Given the description of an element on the screen output the (x, y) to click on. 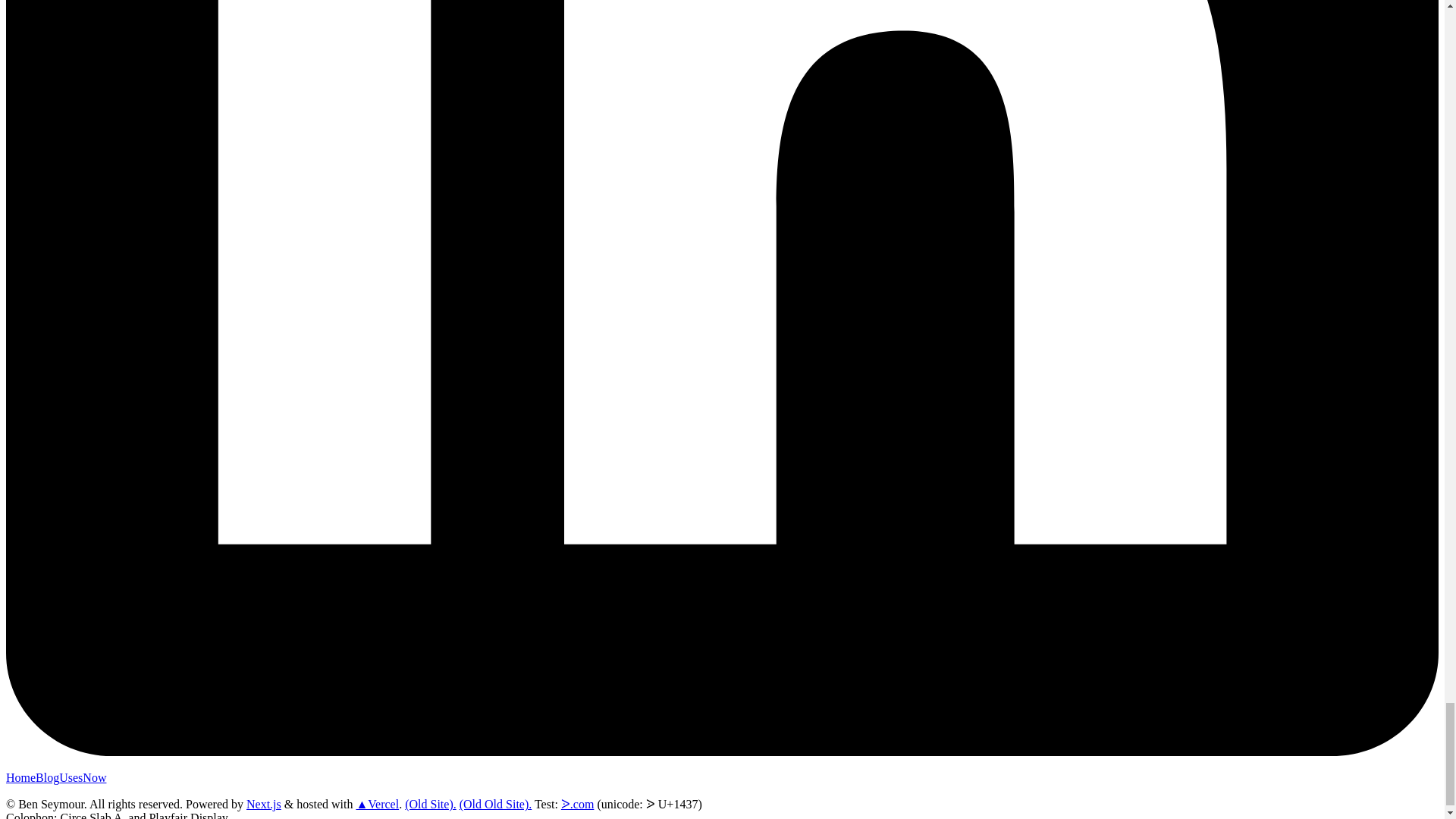
Home (19, 777)
Next.js (263, 803)
Uses (70, 777)
Now (94, 777)
Blog (46, 777)
